Given the description of an element on the screen output the (x, y) to click on. 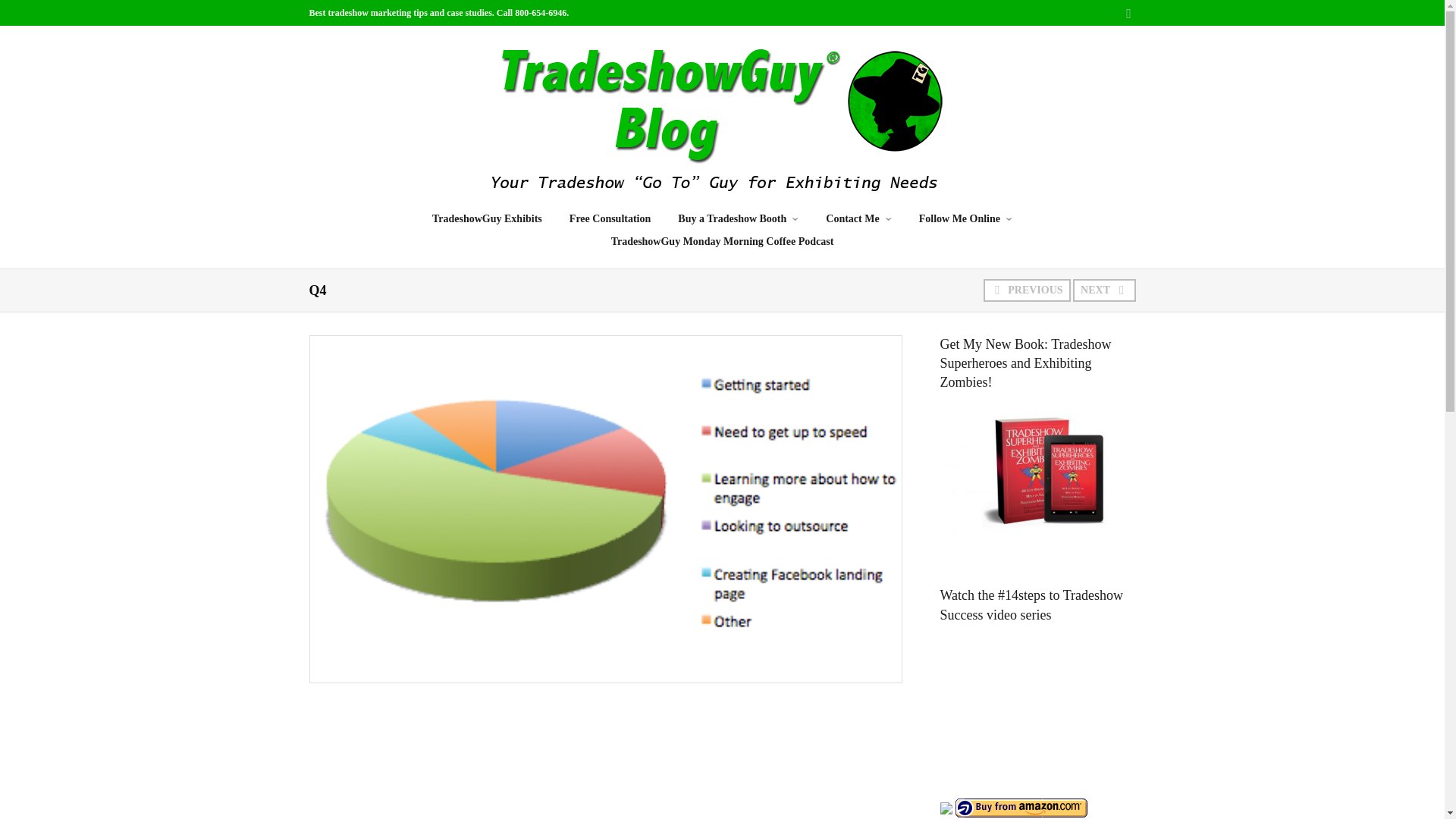
TradeshowGuy Monday Morning Coffee Podcast (721, 241)
Follow Me Online (965, 219)
TradeshowGuy Blog (722, 114)
Buy a Tradeshow Booth (737, 219)
Contact Me (858, 219)
TradeshowGuy Exhibits (487, 219)
Free Consultation (609, 219)
